Given the description of an element on the screen output the (x, y) to click on. 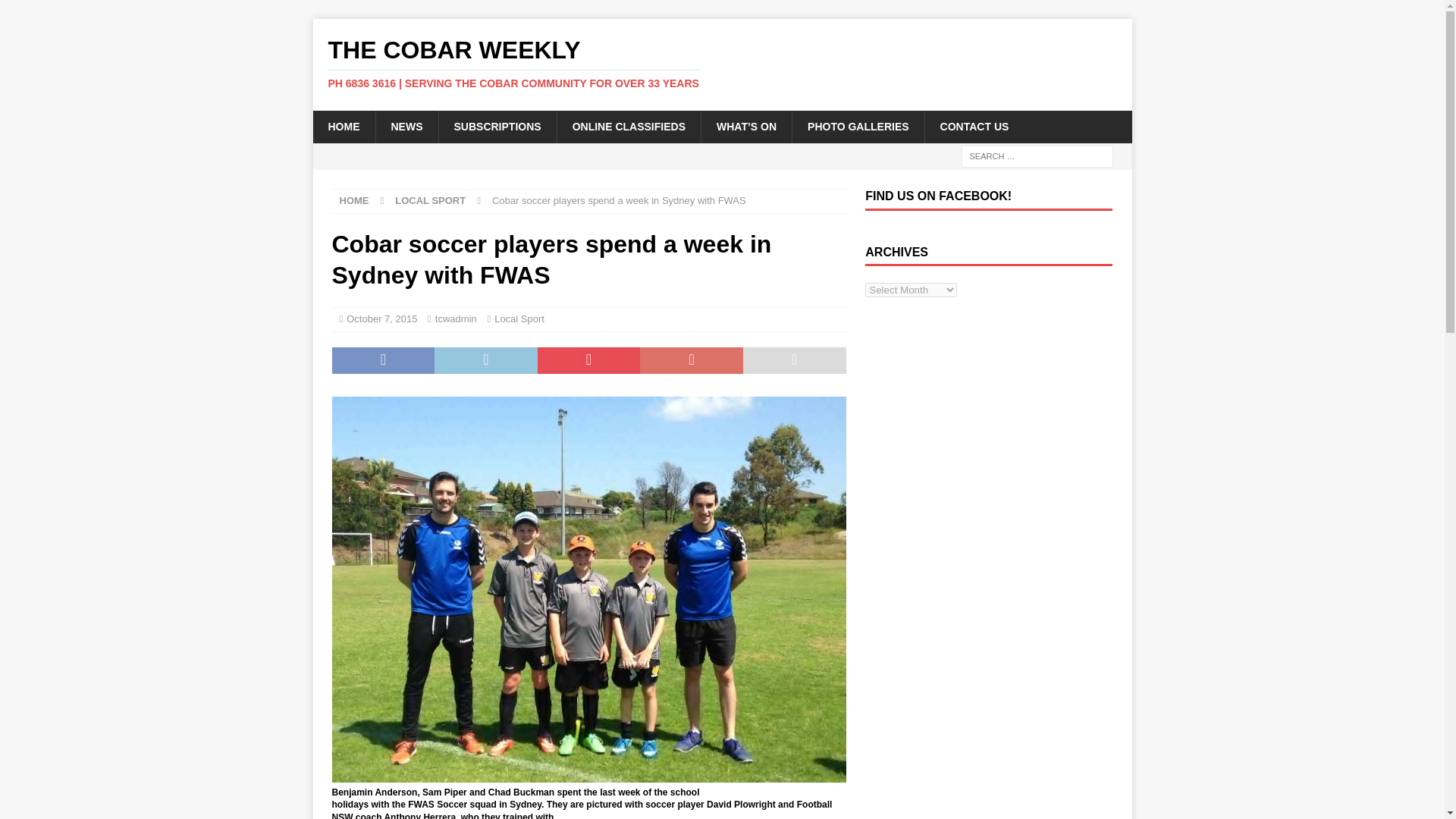
PHOTO GALLERIES (858, 126)
tcwadmin (456, 318)
October 7, 2015 (381, 318)
HOME (343, 126)
The Cobar Weekly (721, 63)
HOME (354, 200)
CONTACT US (974, 126)
LOCAL SPORT (429, 200)
ONLINE CLASSIFIEDS (628, 126)
SUBSCRIPTIONS (497, 126)
Local Sport (519, 318)
Search (56, 11)
NEWS (406, 126)
